Given the description of an element on the screen output the (x, y) to click on. 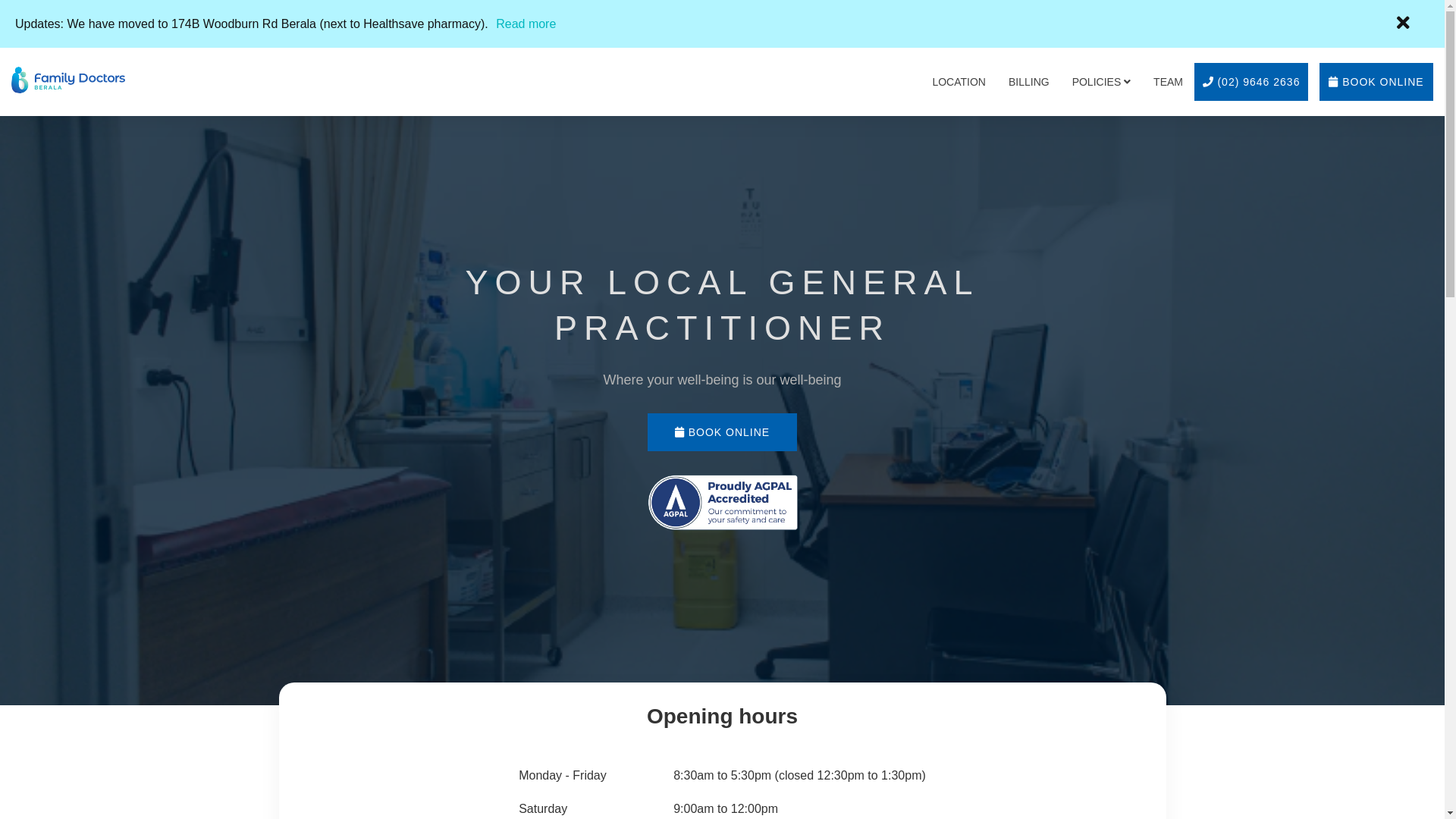
Read more Element type: text (525, 23)
POLICIES Element type: text (1101, 81)
BILLING Element type: text (1028, 81)
BOOK ONLINE Element type: text (1376, 81)
LOCATION Element type: text (958, 81)
BOOK ONLINE Element type: text (722, 432)
TEAM Element type: text (1168, 81)
(02) 9646 2636 Element type: text (1251, 81)
